Given the description of an element on the screen output the (x, y) to click on. 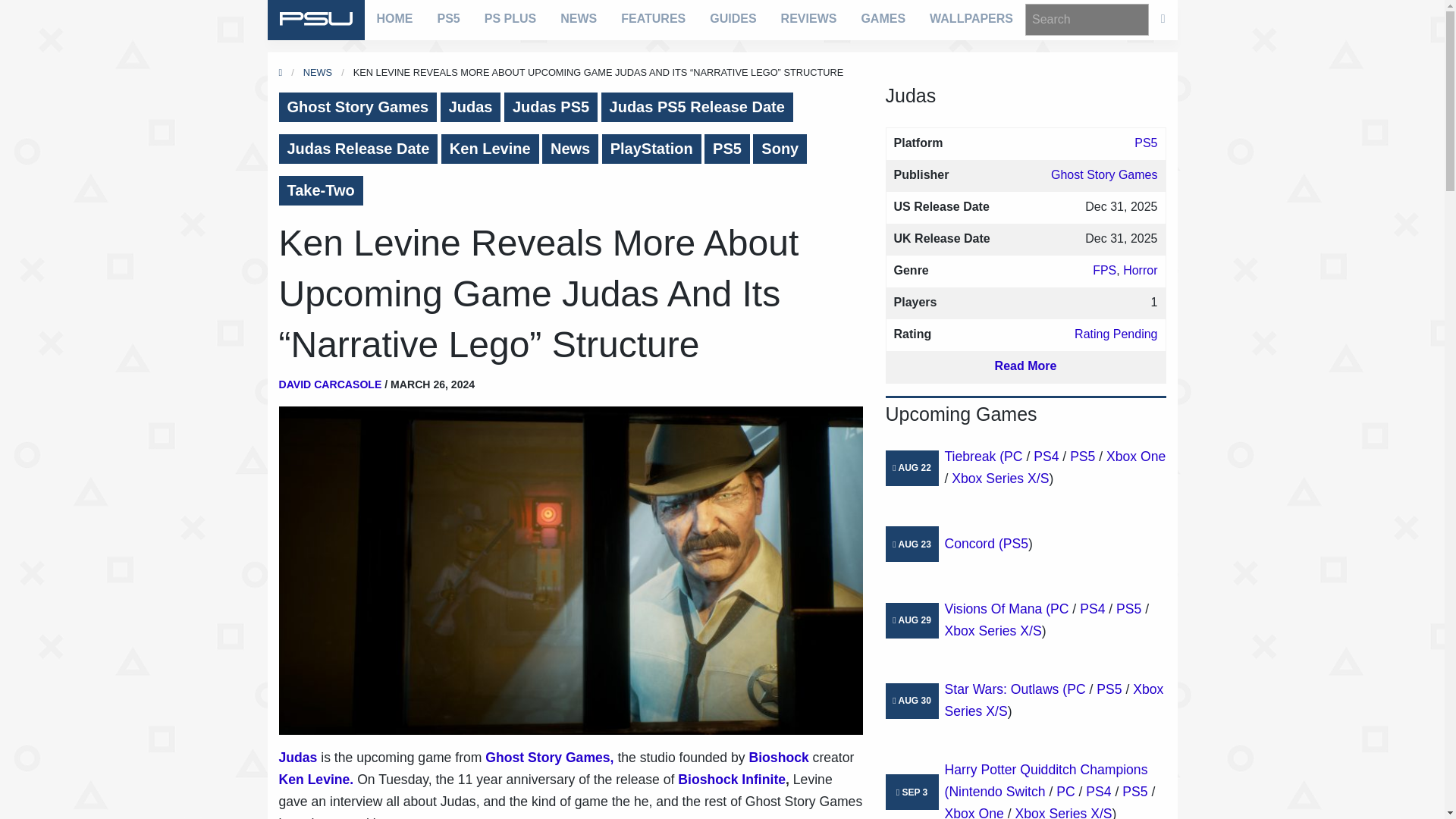
FEATURES (652, 18)
DAVID CARCASOLE (330, 384)
Bioshock (780, 757)
PlayStation (651, 148)
Ghost Story Games (358, 107)
REVIEWS (808, 18)
HOME (394, 18)
Judas (470, 107)
PS5 (726, 148)
GUIDES (732, 18)
